Given the description of an element on the screen output the (x, y) to click on. 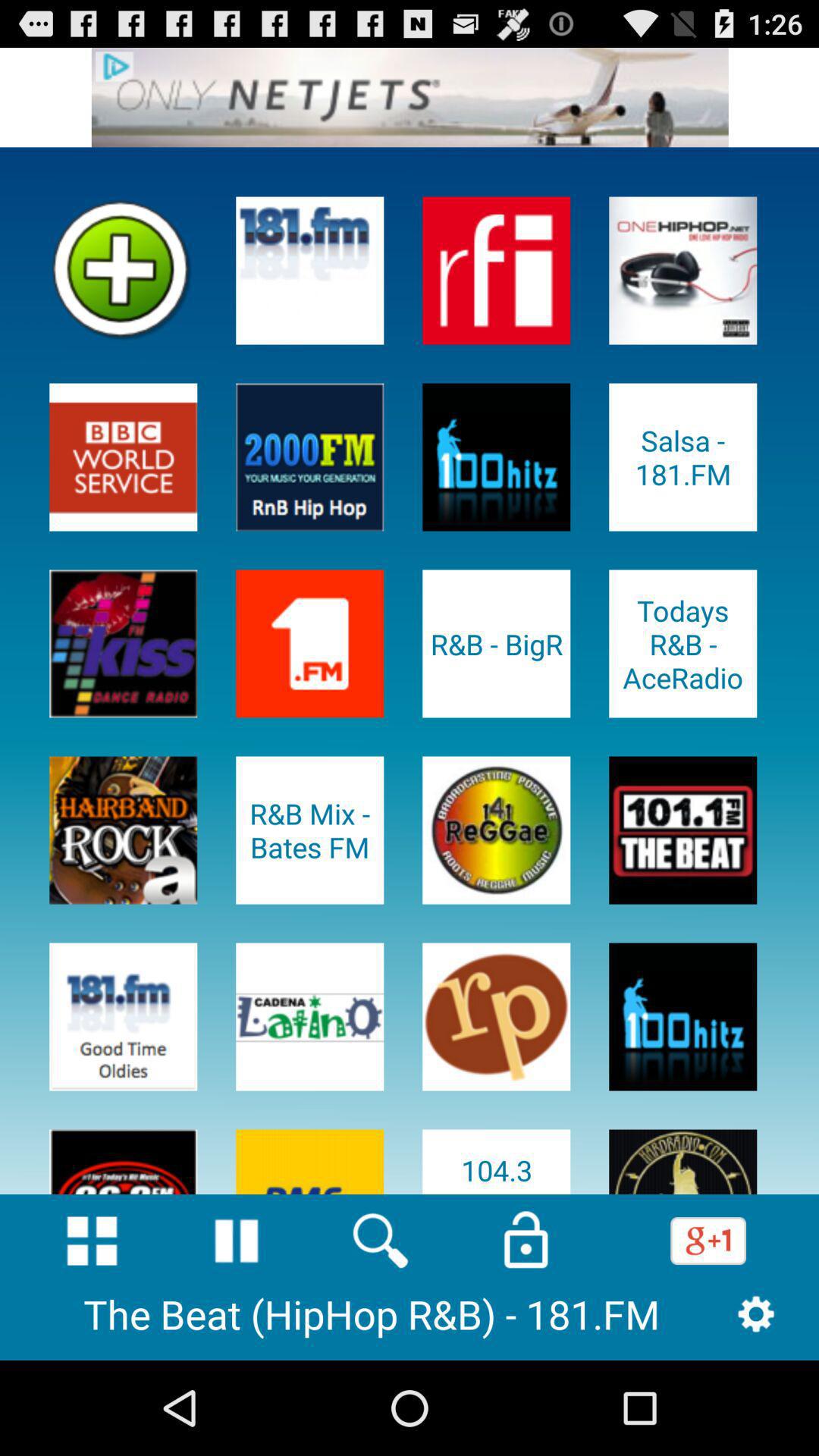
settings (756, 1313)
